Given the description of an element on the screen output the (x, y) to click on. 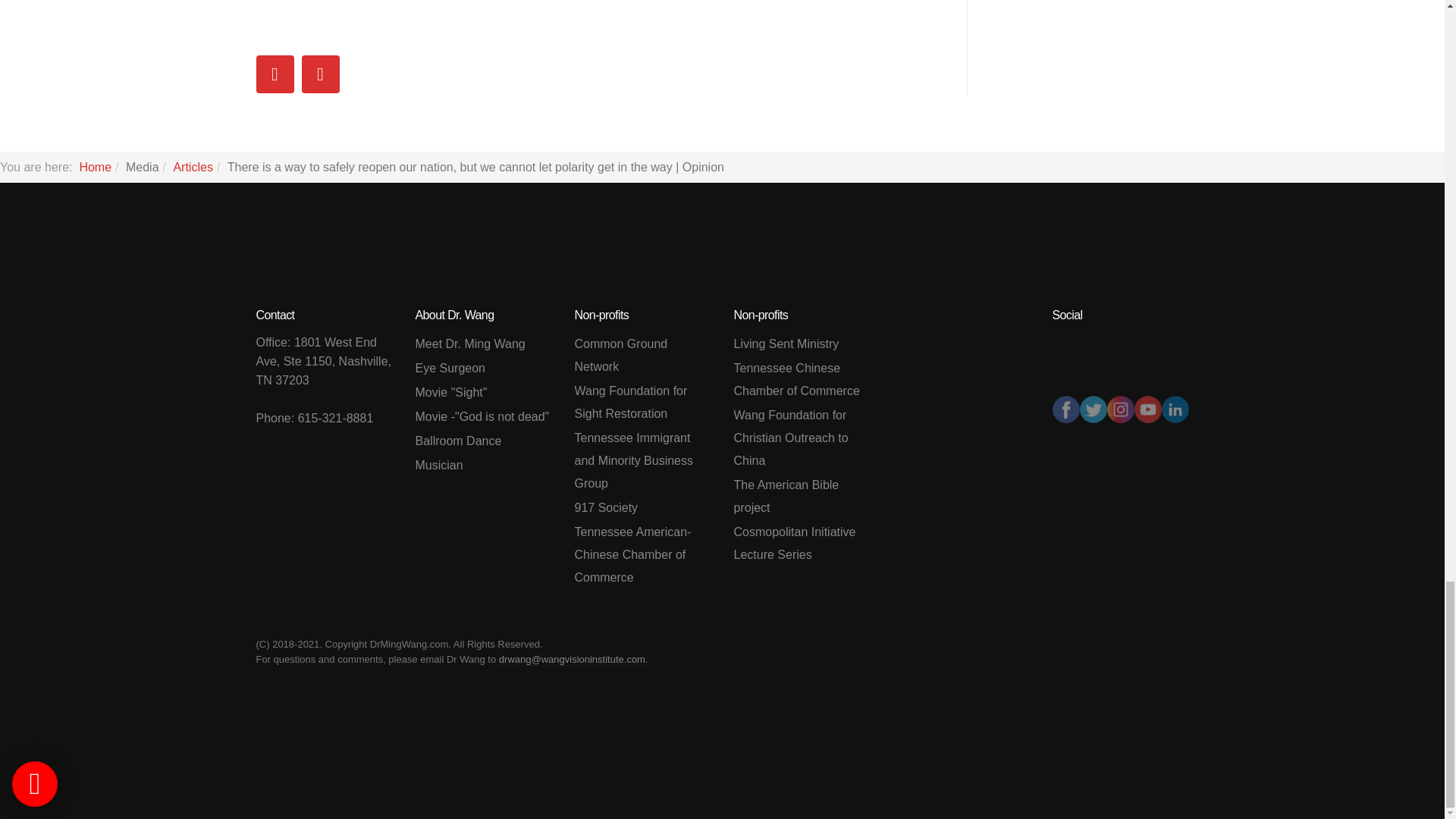
Facebook (1066, 408)
Instgram (1120, 408)
Youtube (1147, 408)
Linkedin (1175, 408)
Twitter (1093, 408)
